Given the description of an element on the screen output the (x, y) to click on. 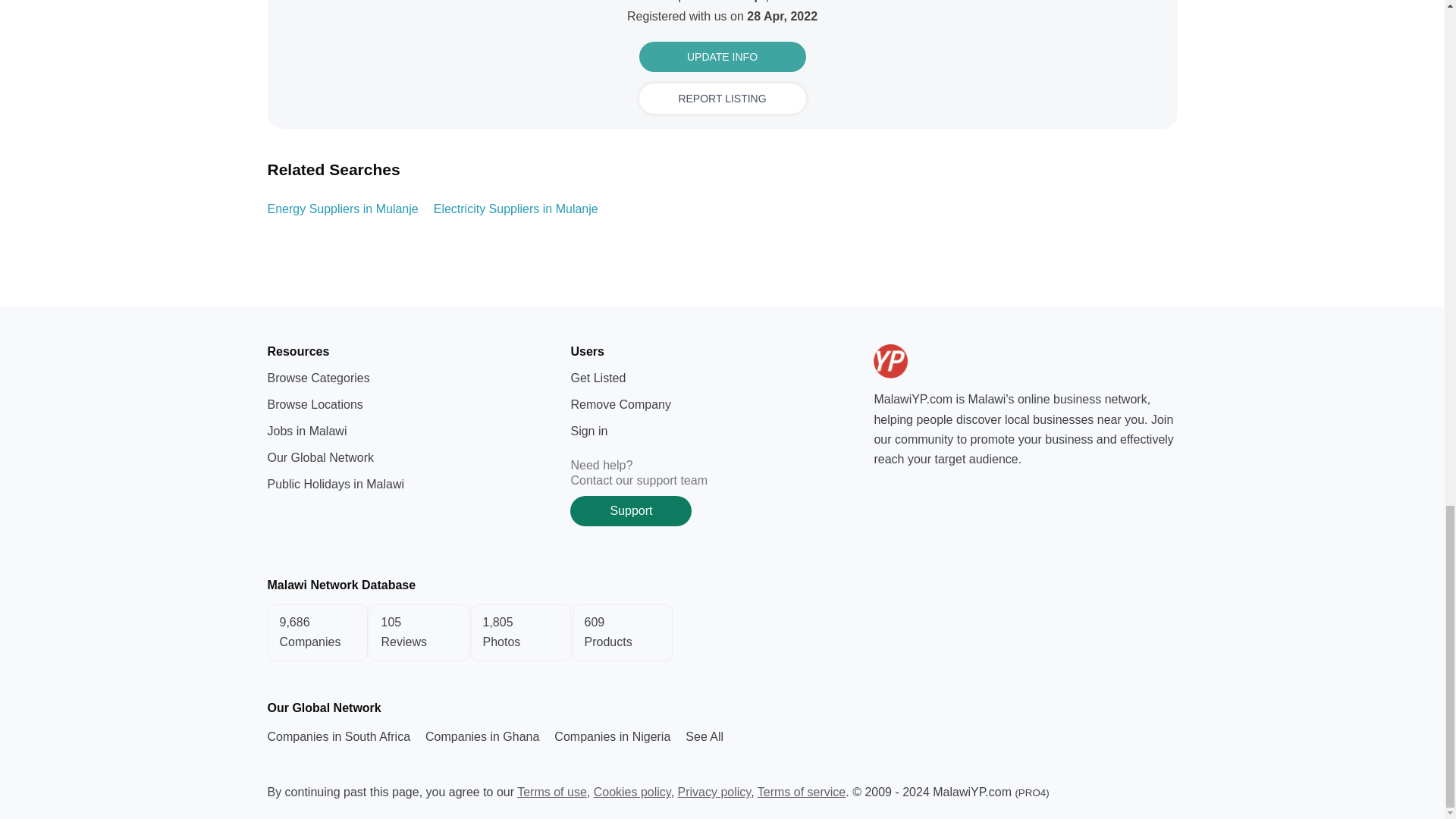
Malawi Business Directory - MalawiYP.com (721, 632)
Update Info Cedar Energy (926, 360)
Our Global Network (721, 632)
REPORT LISTING (722, 56)
UPDATE INFO (704, 736)
Electricity Suppliers in Mulanje (722, 98)
